Given the description of an element on the screen output the (x, y) to click on. 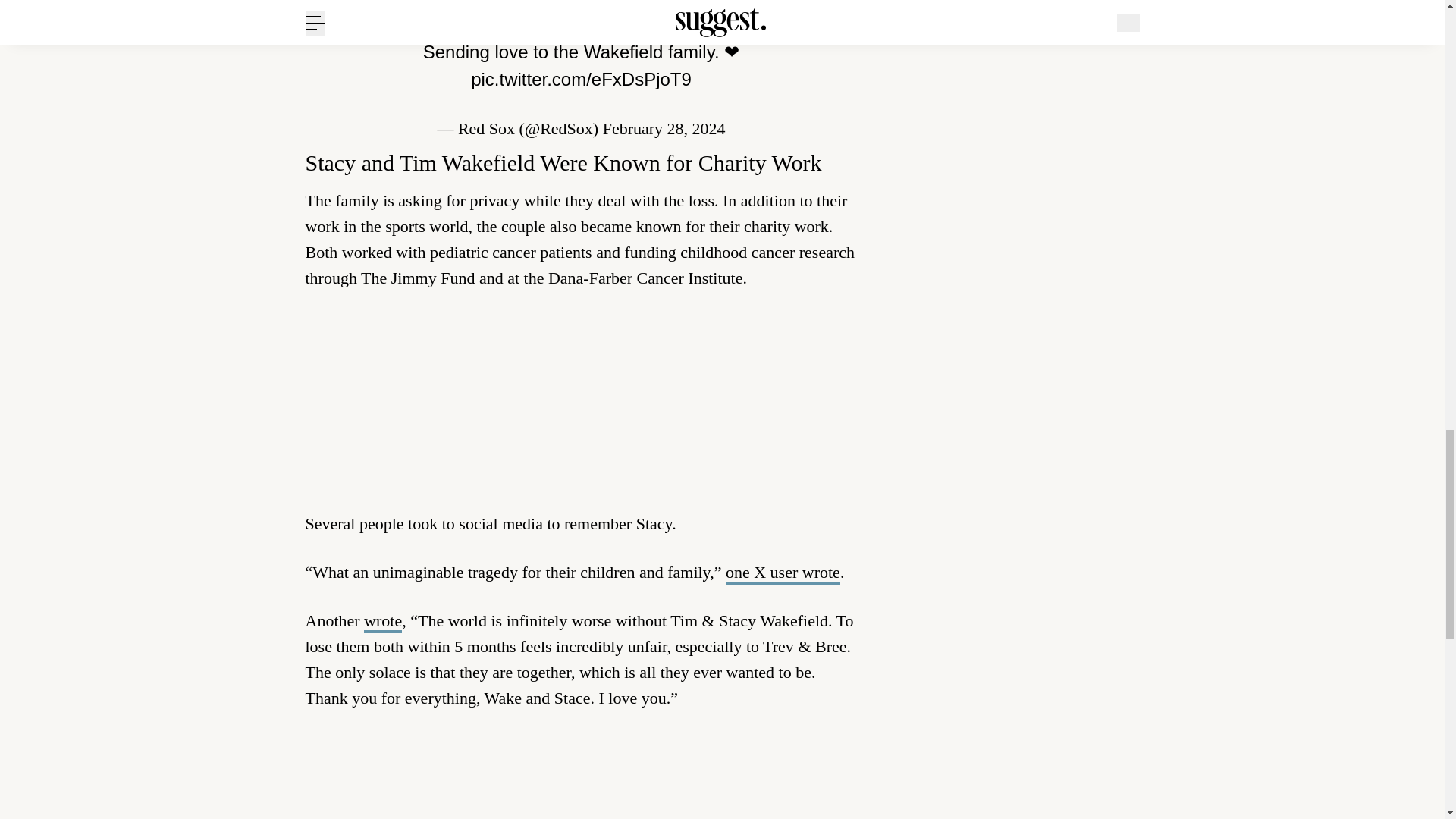
one X user wrote (782, 573)
wrote (382, 621)
February 28, 2024 (663, 128)
